Given the description of an element on the screen output the (x, y) to click on. 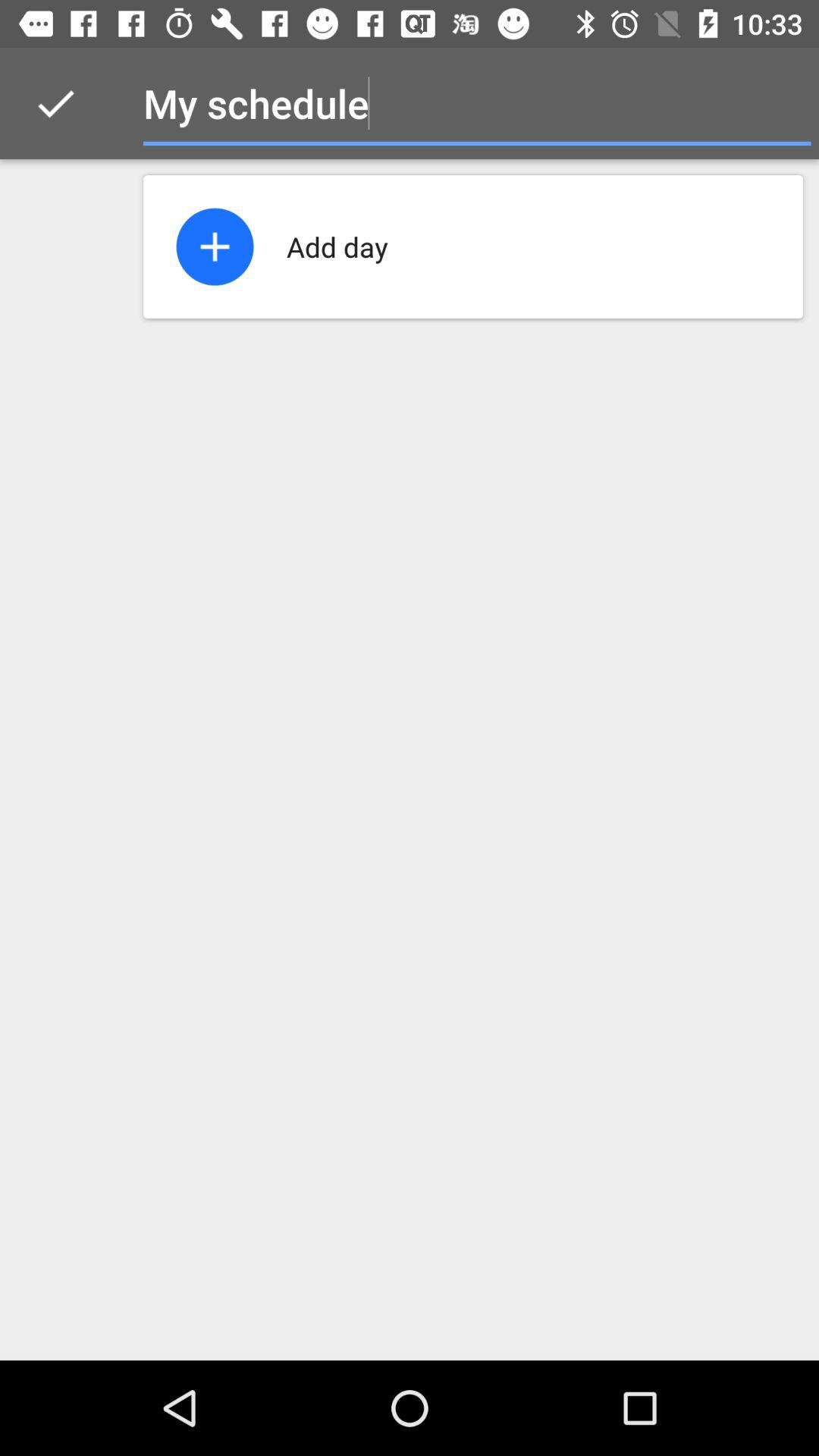
turn on the item to the left of my schedule (55, 103)
